Given the description of an element on the screen output the (x, y) to click on. 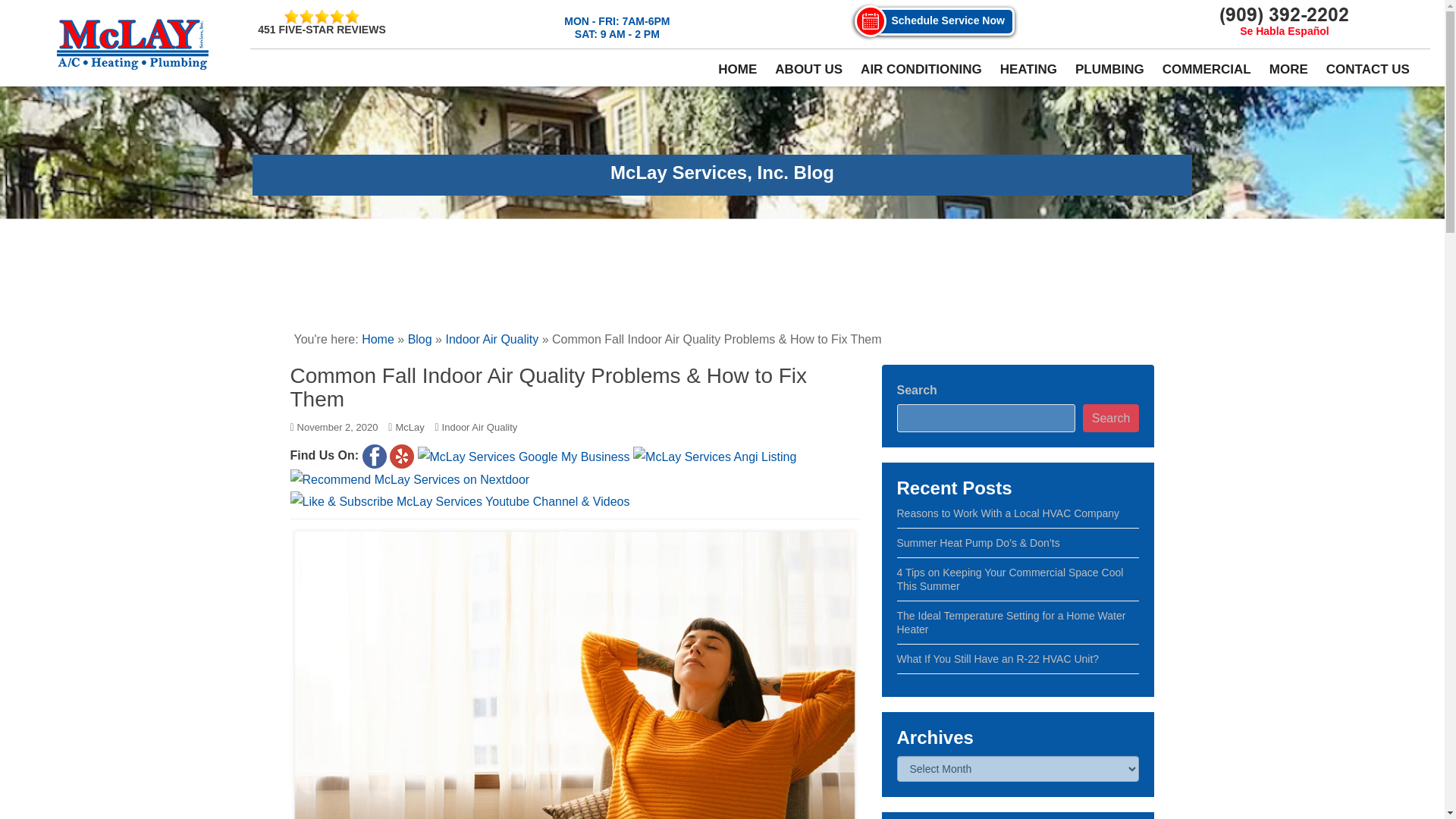
451 FIVE-STAR REVIEWS (321, 22)
HOME (737, 69)
McLay Services Google Maps (523, 456)
Post Reviews on Yelp Listing (401, 456)
HEATING (1028, 69)
ABOUT US (808, 69)
AIR CONDITIONING (921, 69)
Schedule Service Now (943, 21)
Like Us on Facebook (374, 456)
